Given the description of an element on the screen output the (x, y) to click on. 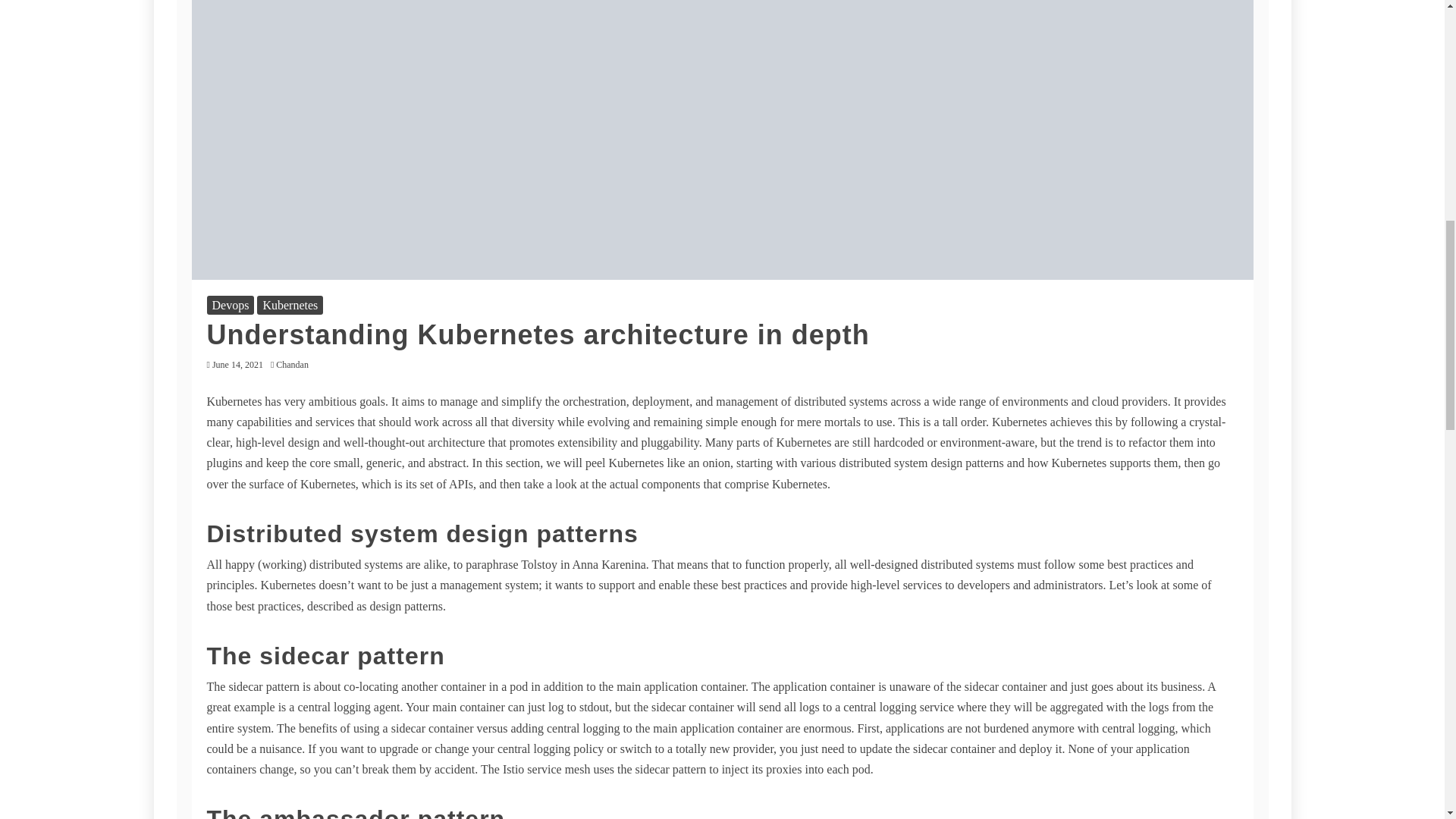
Kubernetes (290, 304)
June 14, 2021 (237, 364)
Chandan (295, 364)
Devops (229, 304)
